Given the description of an element on the screen output the (x, y) to click on. 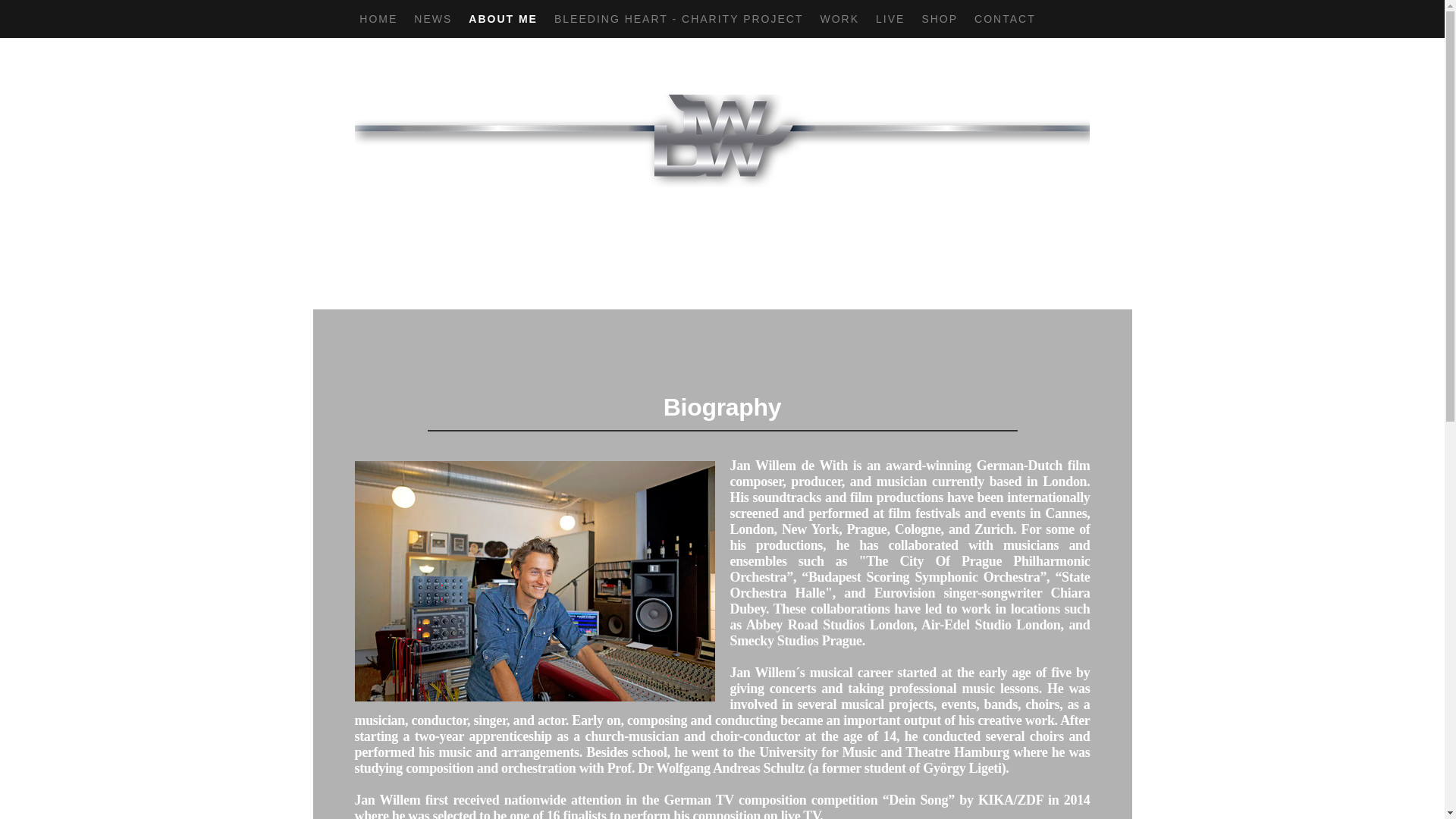
NEWS (433, 18)
HOME (378, 18)
BLEEDING HEART - CHARITY PROJECT (679, 18)
WORK (838, 18)
ABOUT ME (503, 18)
